Given the description of an element on the screen output the (x, y) to click on. 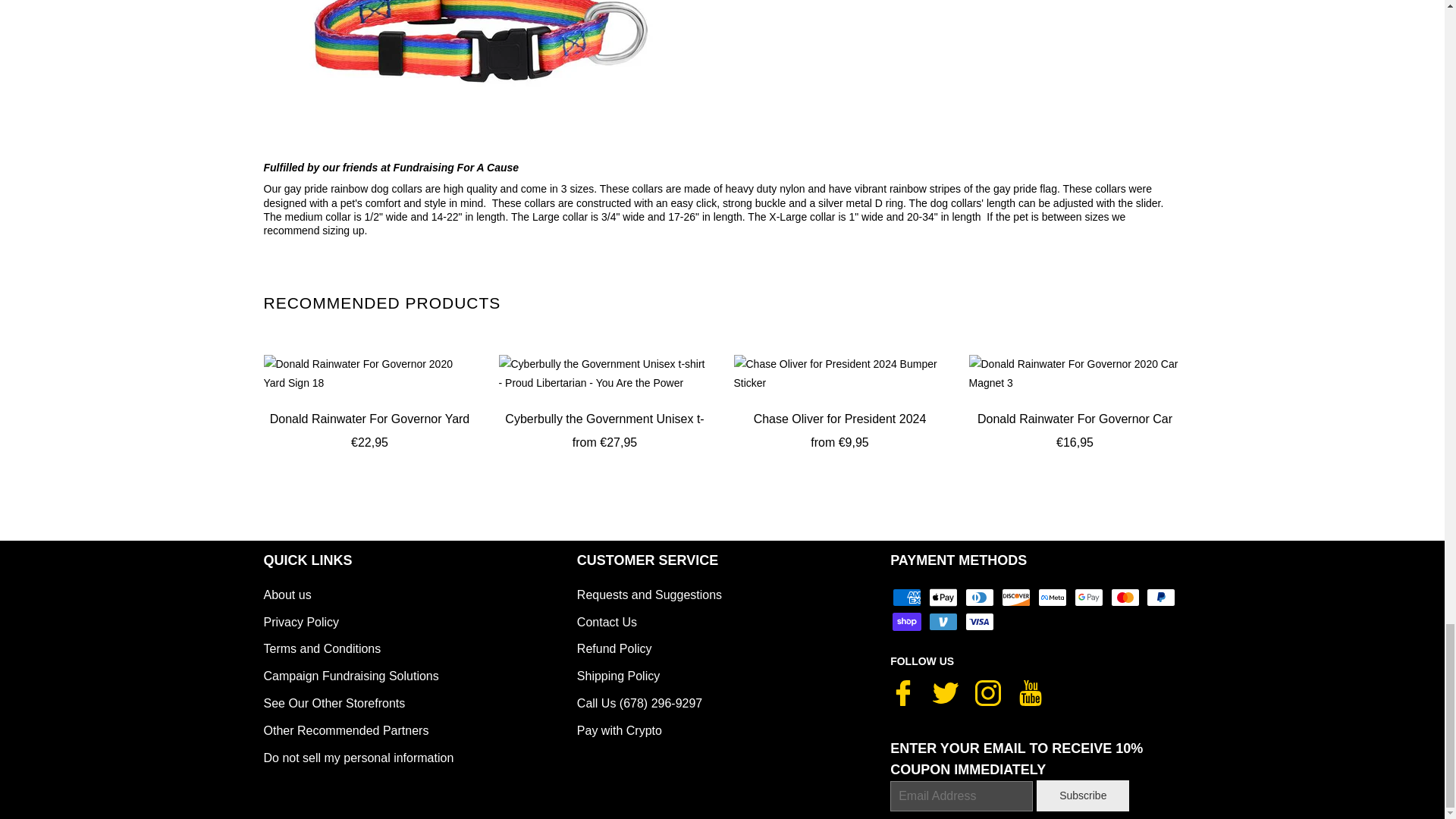
Contact Us (606, 621)
Requests and Suggestions (649, 594)
Campaign Fundraising Solutions (351, 675)
Do not sell my personal information (358, 757)
Chase Oliver for President 2024 Bumper Sticker (839, 373)
Terms and Conditions (322, 648)
Other Recommended Partners (346, 730)
About us (287, 594)
Cyberbully the Government Unisex t-shirt (605, 373)
Privacy Policy (301, 621)
